Given the description of an element on the screen output the (x, y) to click on. 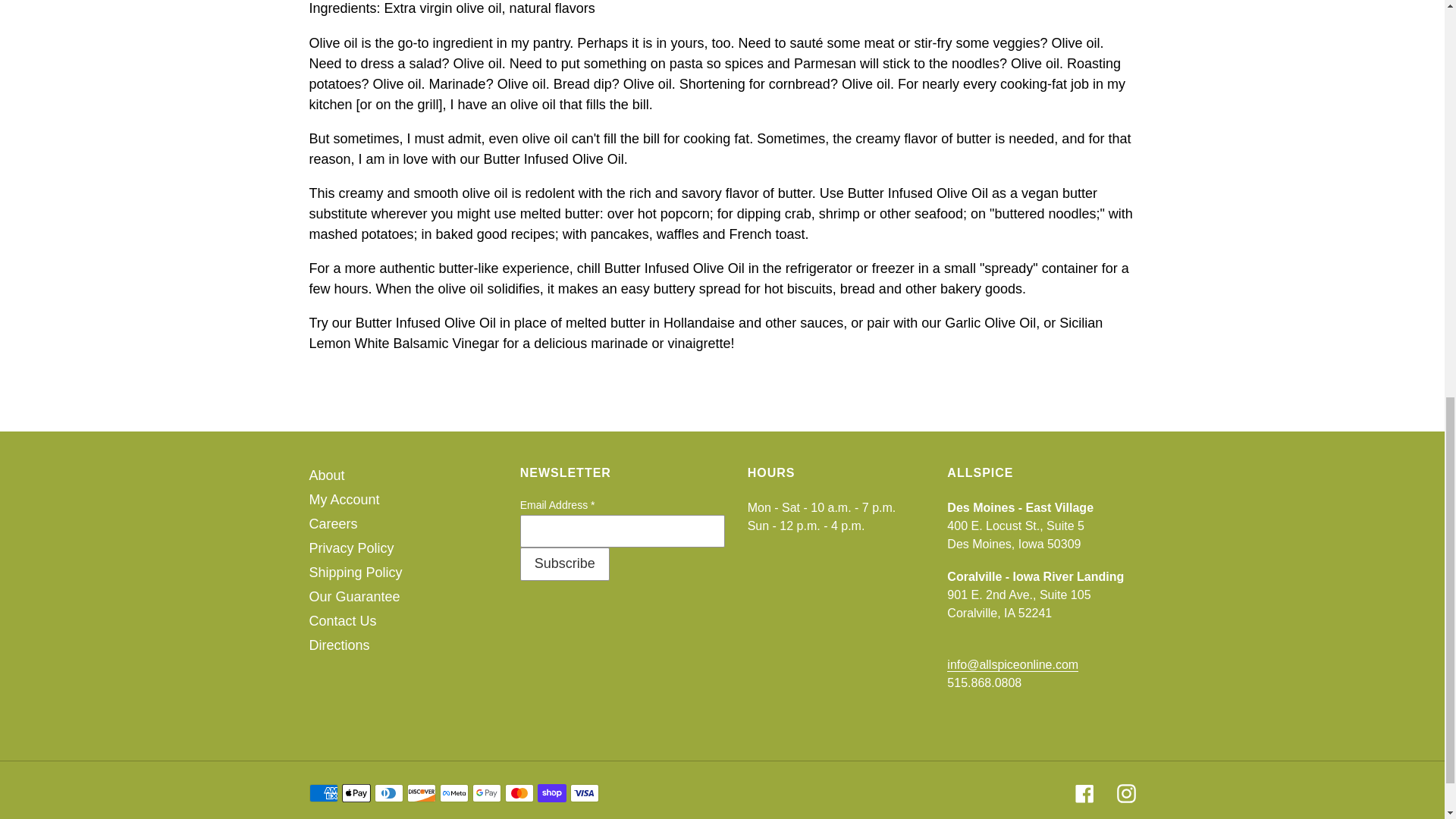
Subscribe (564, 563)
